Given the description of an element on the screen output the (x, y) to click on. 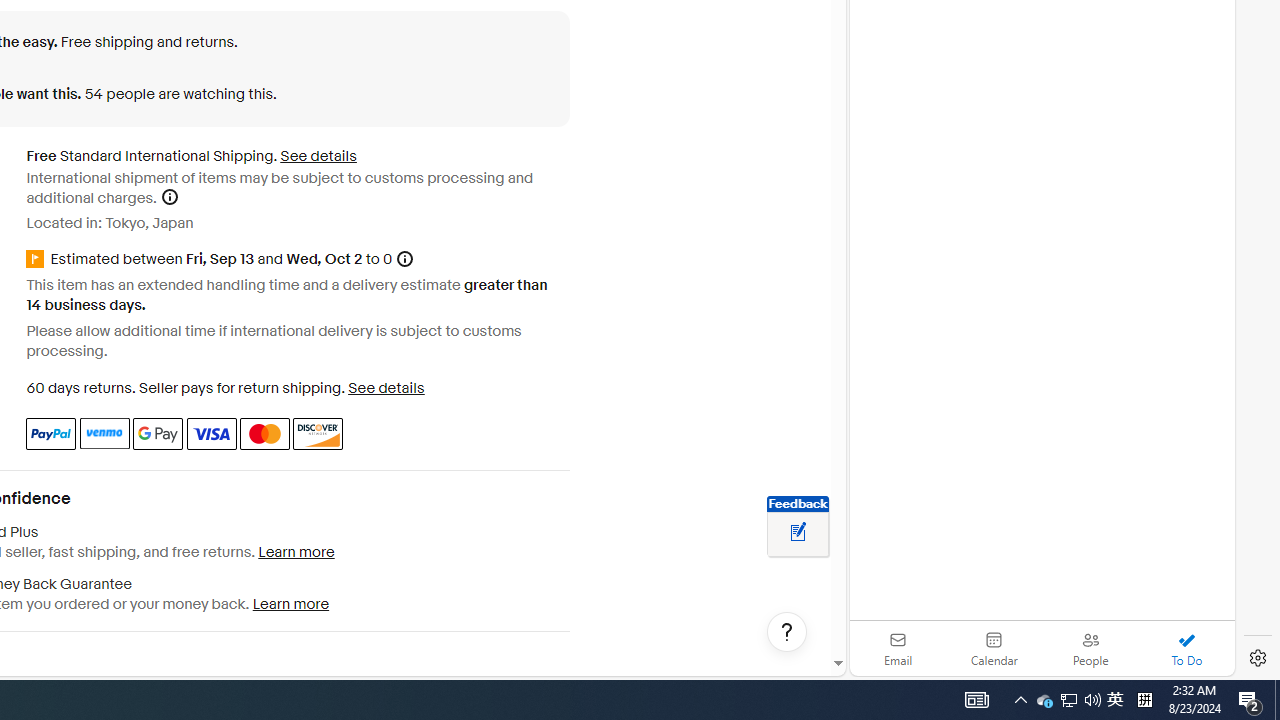
Master Card (264, 433)
Google Pay (158, 433)
Calendar. Date today is 22 (994, 648)
People (1090, 648)
Help, opens dialogs (787, 632)
Delivery alert flag (38, 259)
See details for shipping (318, 156)
Visa (210, 433)
PayPal (50, 433)
Email (898, 648)
